Given the description of an element on the screen output the (x, y) to click on. 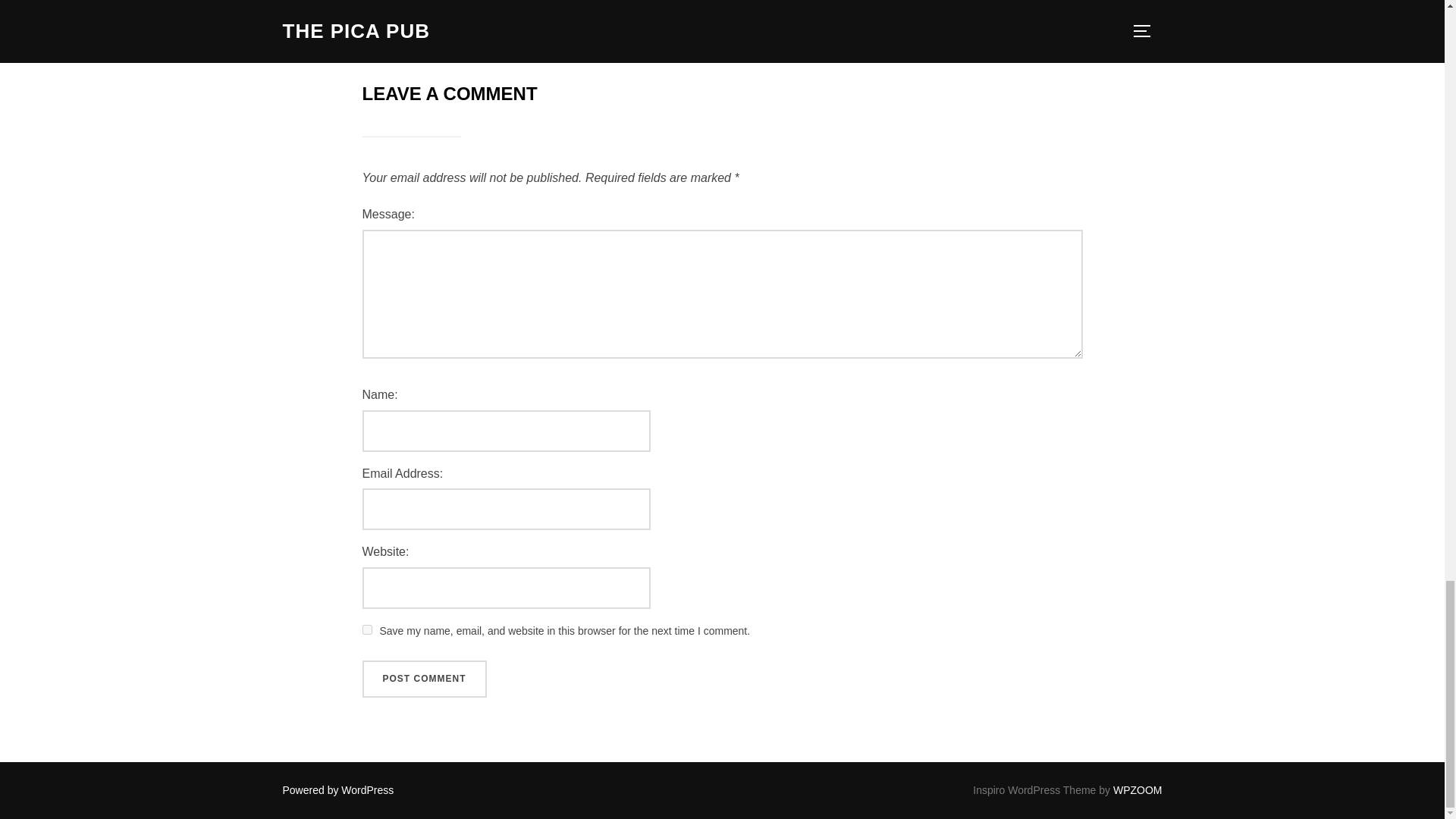
WPZOOM (1137, 789)
Powered by WordPress (337, 789)
yes (367, 629)
Post Comment (424, 679)
Post Comment (424, 679)
